Given the description of an element on the screen output the (x, y) to click on. 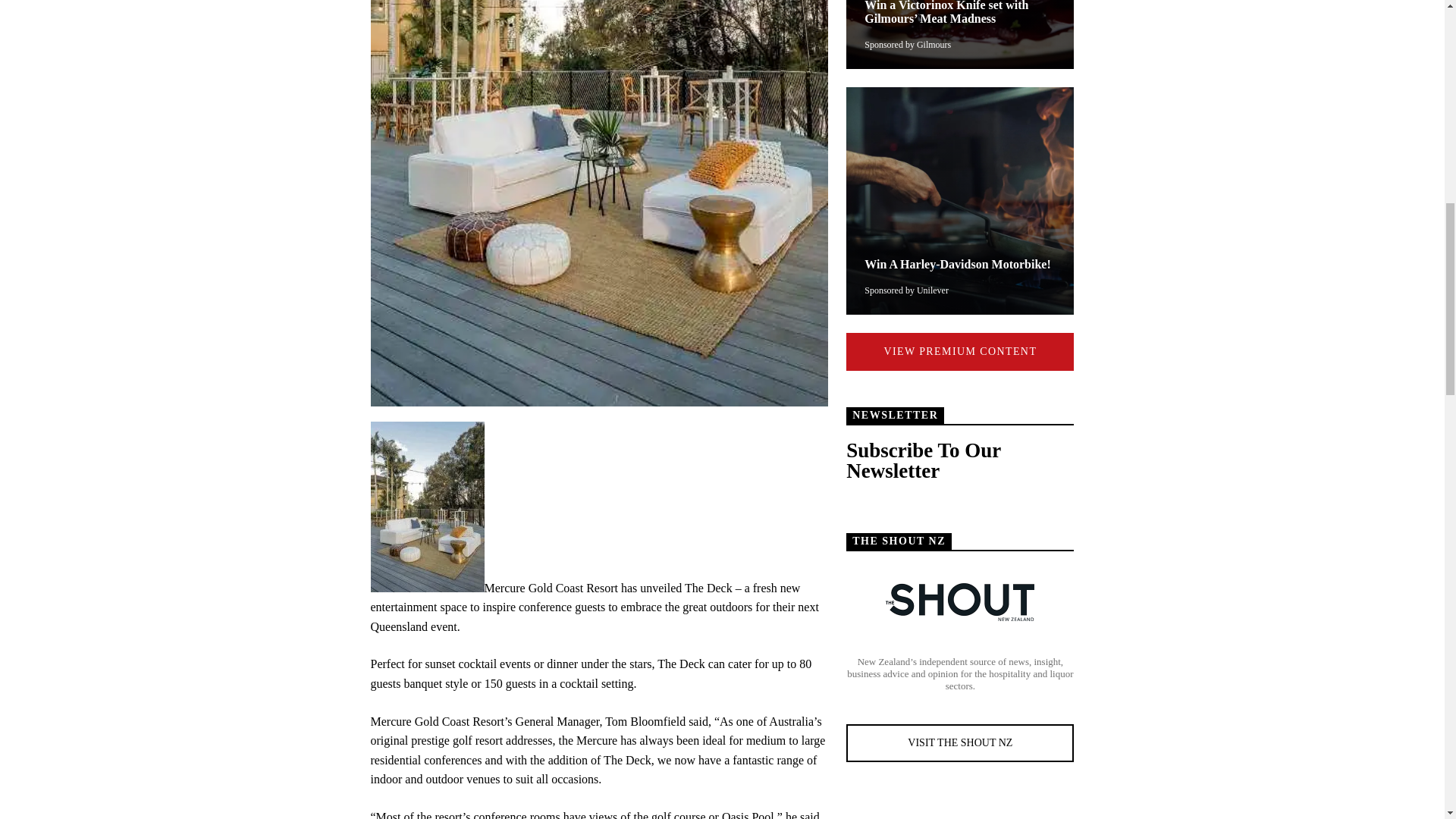
3rd party ad content (959, 808)
